Given the description of an element on the screen output the (x, y) to click on. 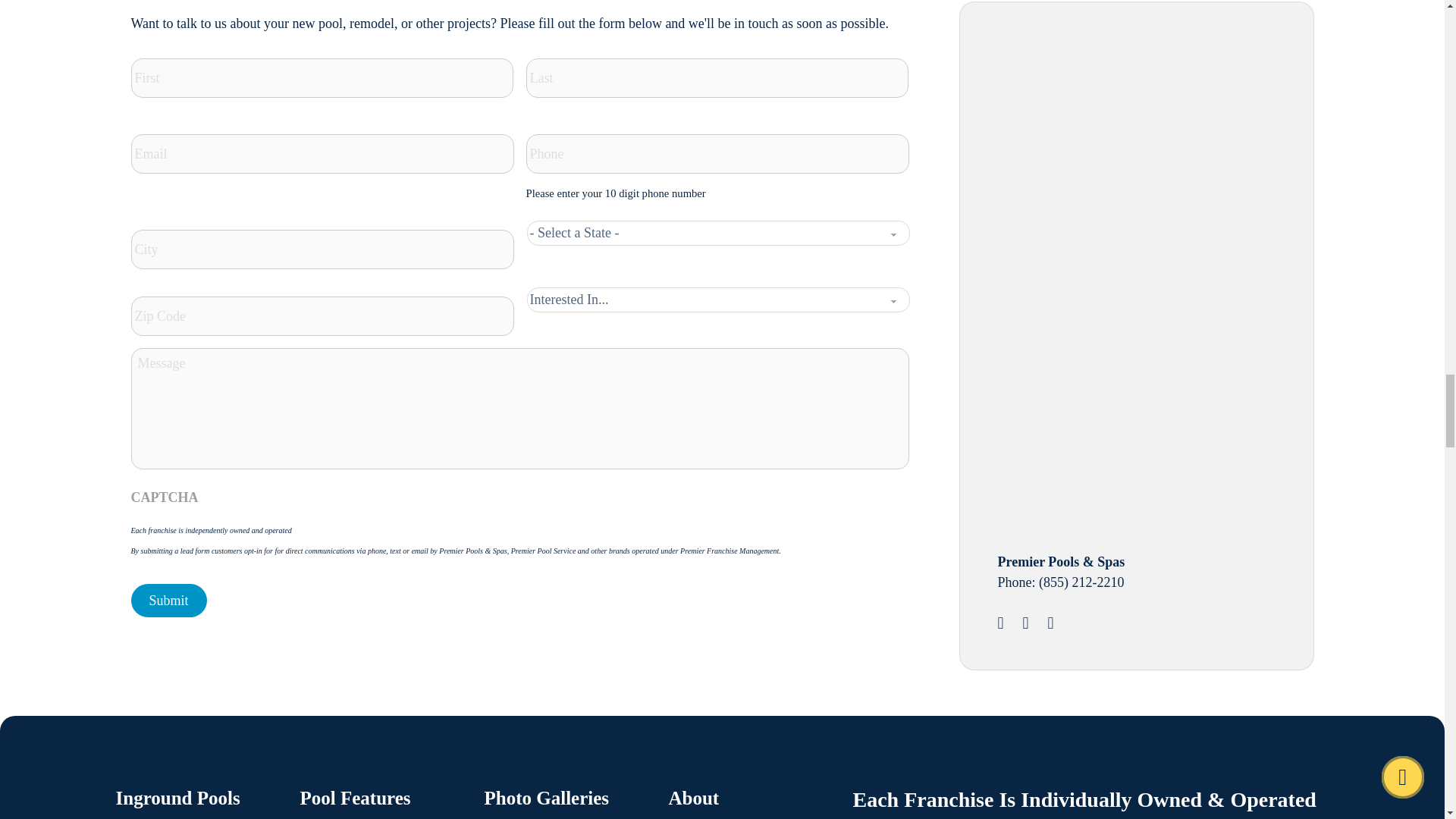
Design Your Pool (1111, 141)
Submit (168, 600)
Pool Financing (1111, 395)
